Given the description of an element on the screen output the (x, y) to click on. 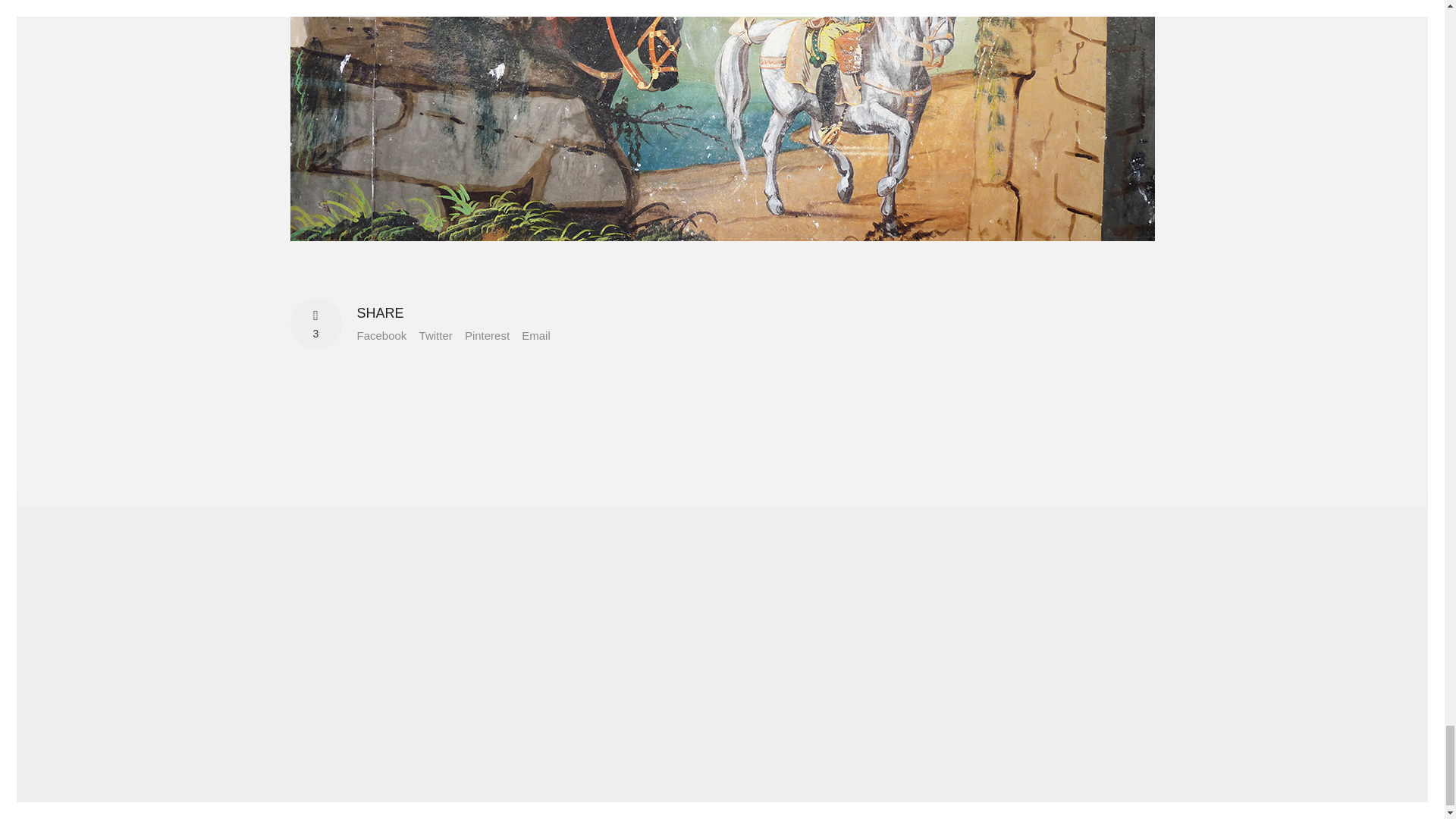
3 (314, 323)
Facebook (381, 335)
Email (535, 335)
Pinterest (486, 335)
Twitter (435, 335)
